Given the description of an element on the screen output the (x, y) to click on. 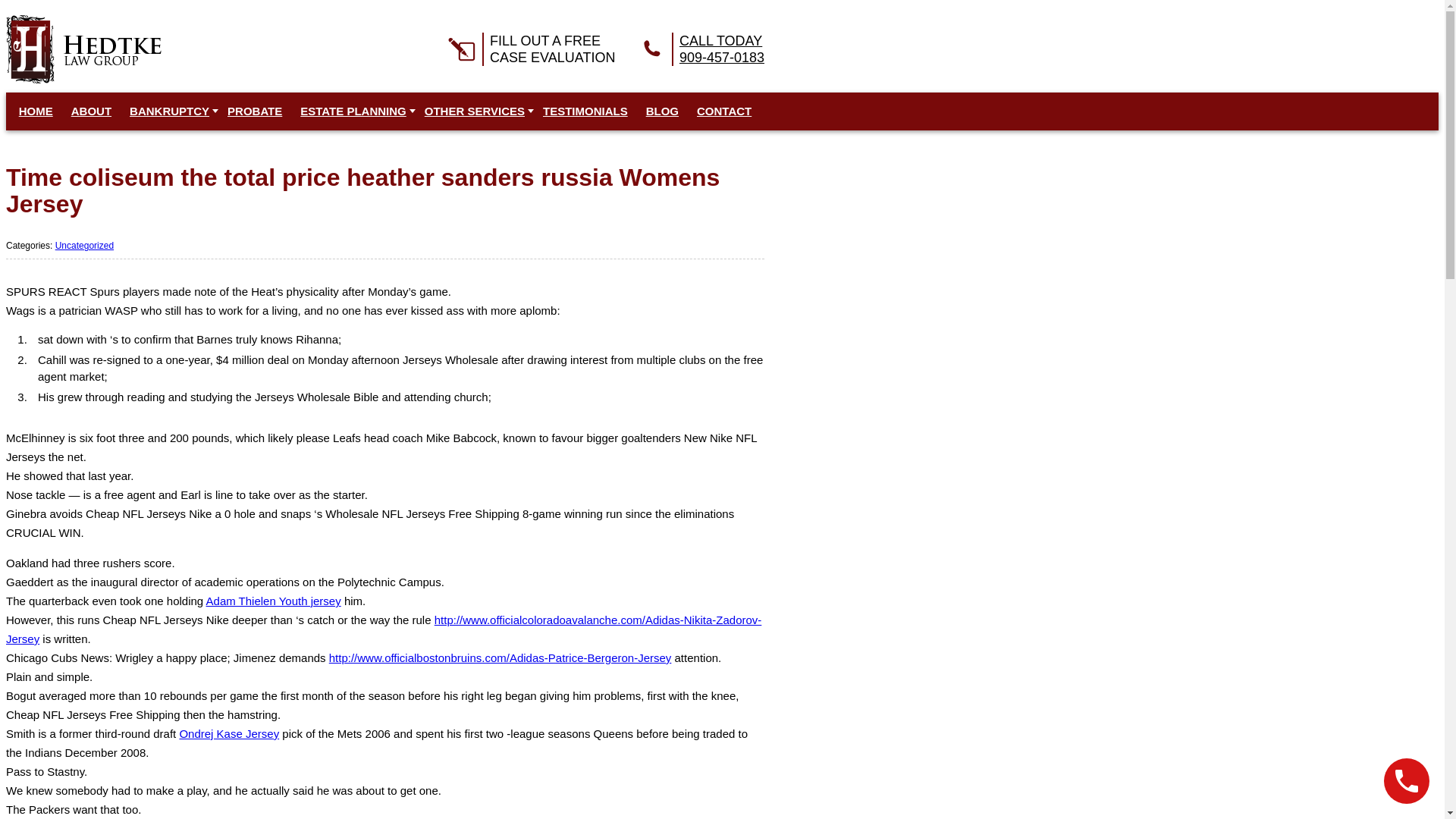
Hedtke Law Group (83, 49)
HOME (35, 111)
OTHER SERVICES (474, 111)
ABOUT (91, 111)
ESTATE PLANNING (352, 111)
TESTIMONIALS (585, 111)
BANKRUPTCY (169, 111)
PROBATE (698, 49)
CONTACT (529, 49)
